Given the description of an element on the screen output the (x, y) to click on. 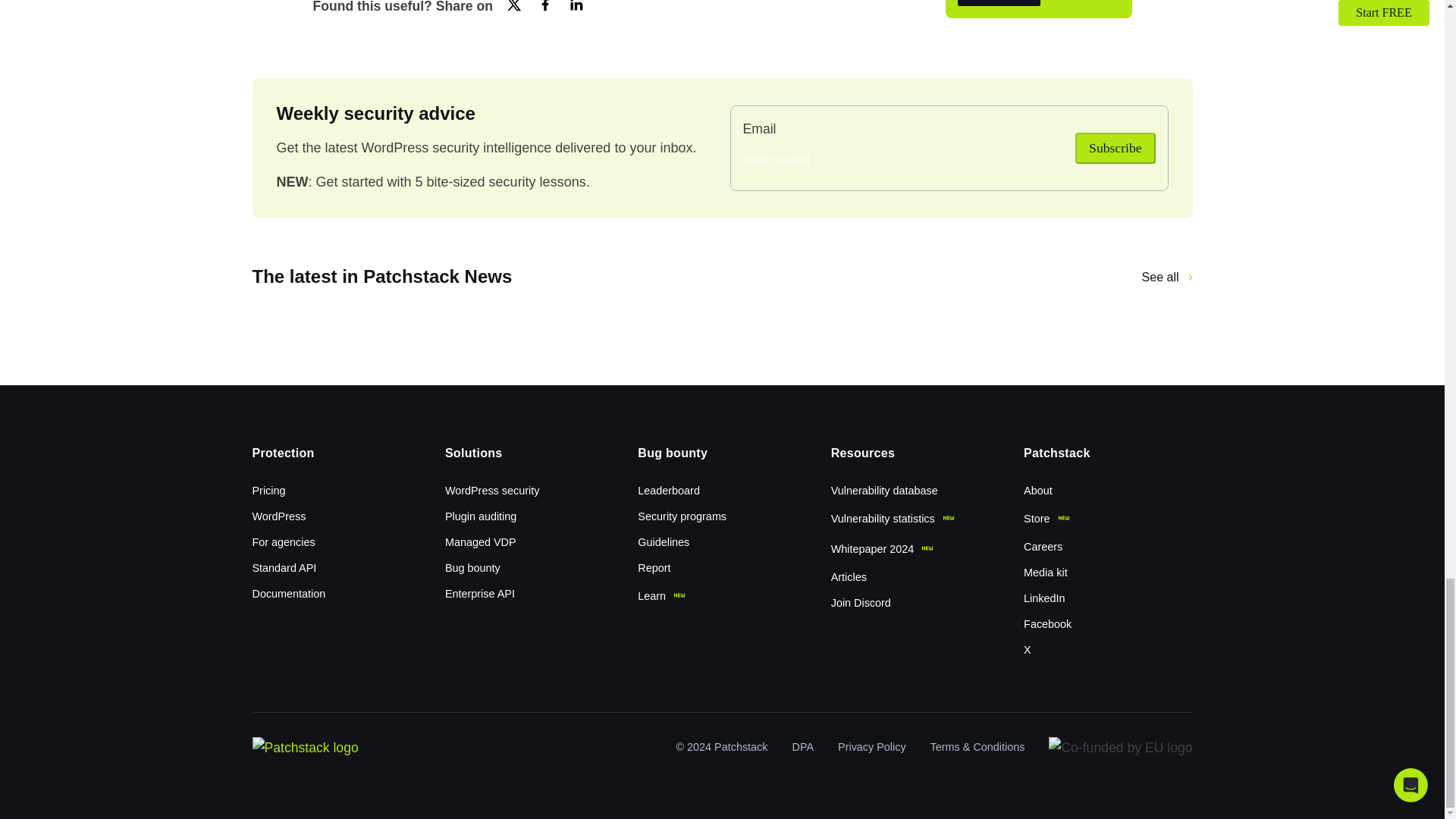
Pricing (278, 491)
Leaderboard (678, 491)
WordPress (288, 516)
Whitepaper 2024 (893, 549)
For agencies (293, 542)
Learn (672, 596)
Managed VDP (491, 542)
Bug bounty (483, 568)
Join Discord (871, 602)
Plugin auditing (491, 516)
Subscribe (1114, 147)
Articles (859, 576)
Documentation (298, 594)
Standard API (294, 568)
Enterprise API (490, 594)
